Given the description of an element on the screen output the (x, y) to click on. 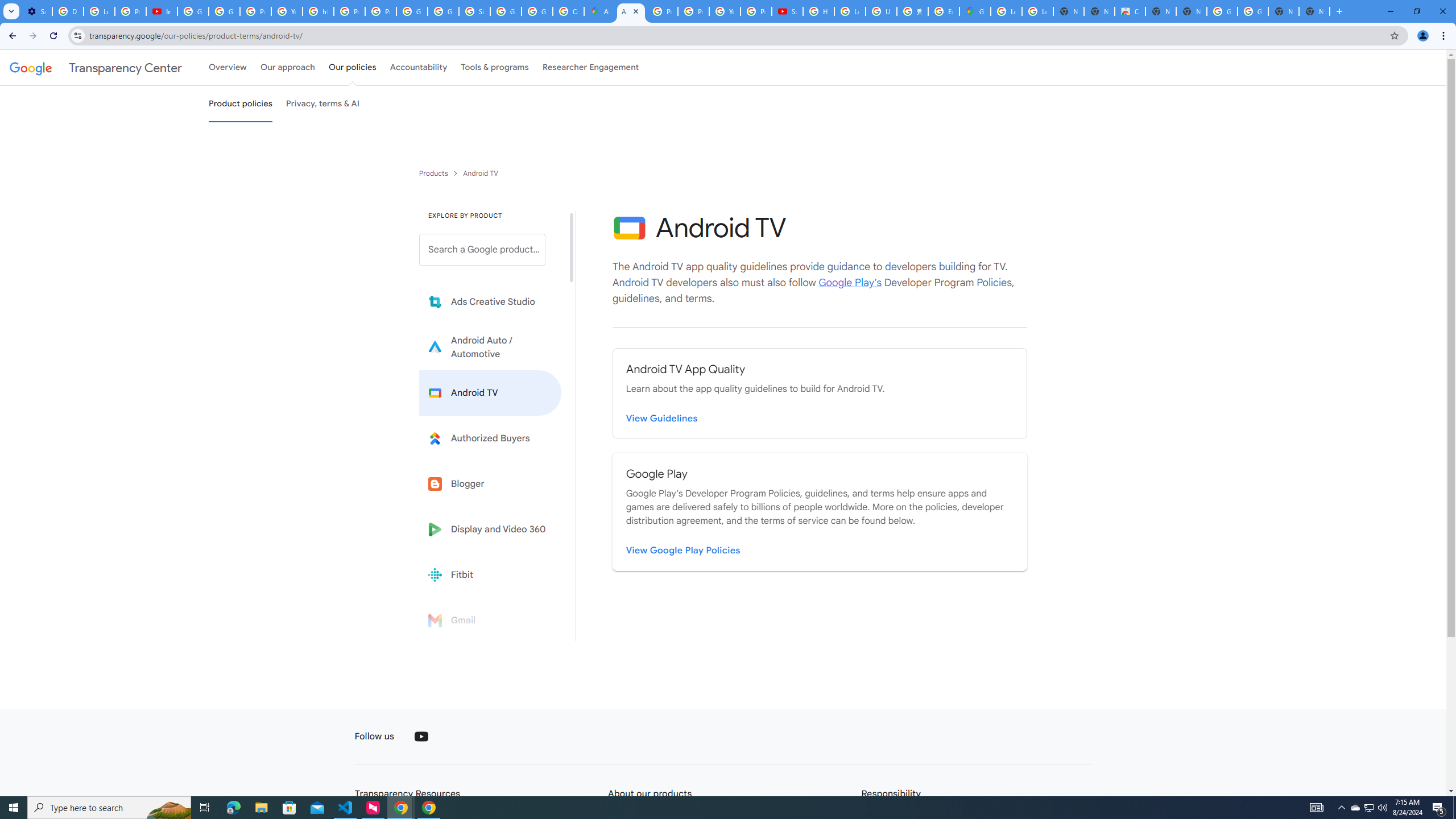
Search a Google product from below list. (481, 249)
Introduction | Google Privacy Policy - YouTube (161, 11)
Privacy Help Center - Policies Help (662, 11)
Learn more about Authorized Buyers (490, 438)
Learn more about Android Auto (490, 347)
Subscriptions - YouTube (787, 11)
Accountability (418, 67)
Sign in - Google Accounts (474, 11)
